Given the description of an element on the screen output the (x, y) to click on. 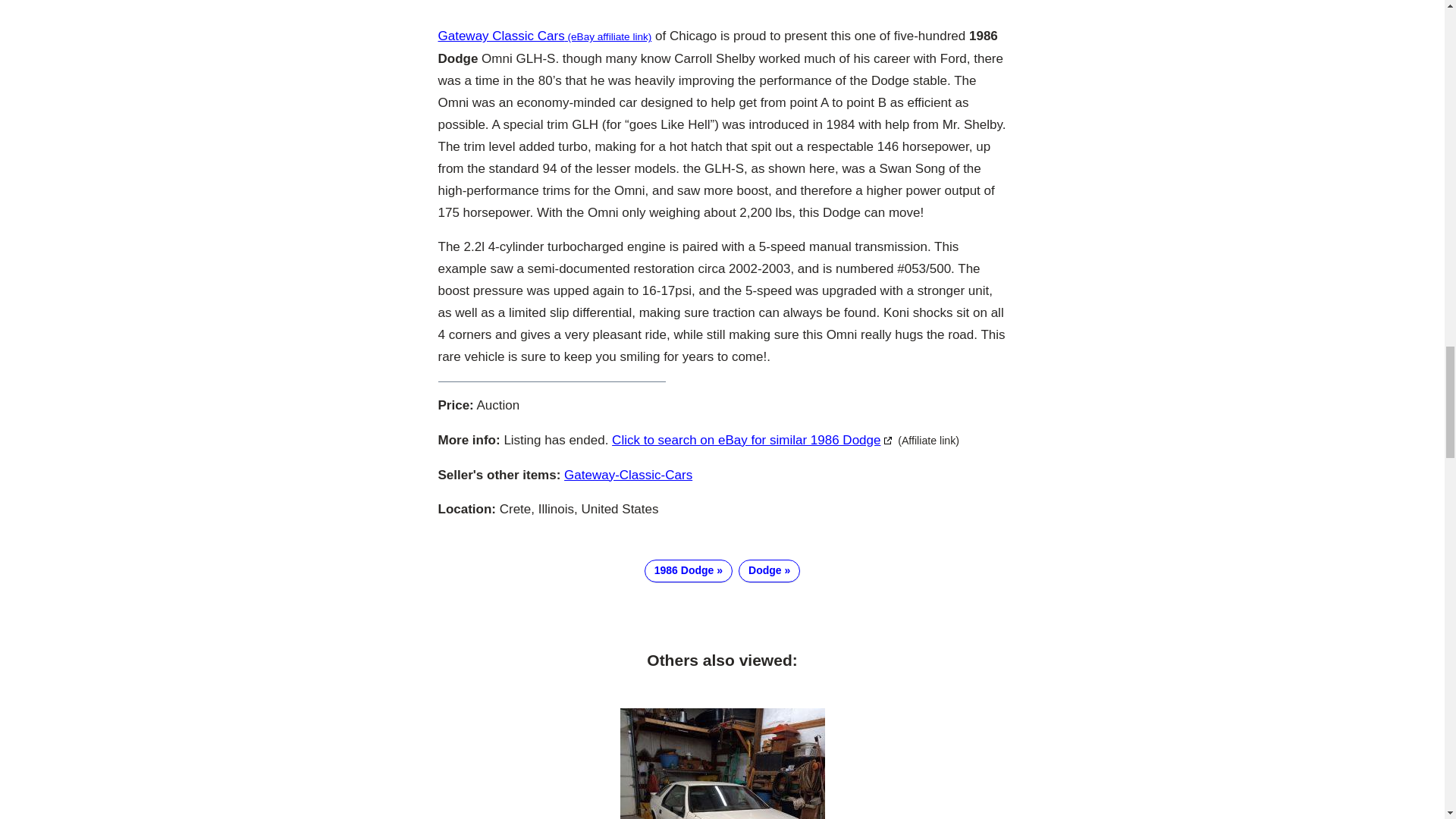
1986 Dodge (688, 570)
Dodge (768, 570)
Click to search on eBay for similar 1986 Dodge (752, 440)
Gateway Classic Cars (545, 35)
Gateway-Classic-Cars (628, 474)
